Given the description of an element on the screen output the (x, y) to click on. 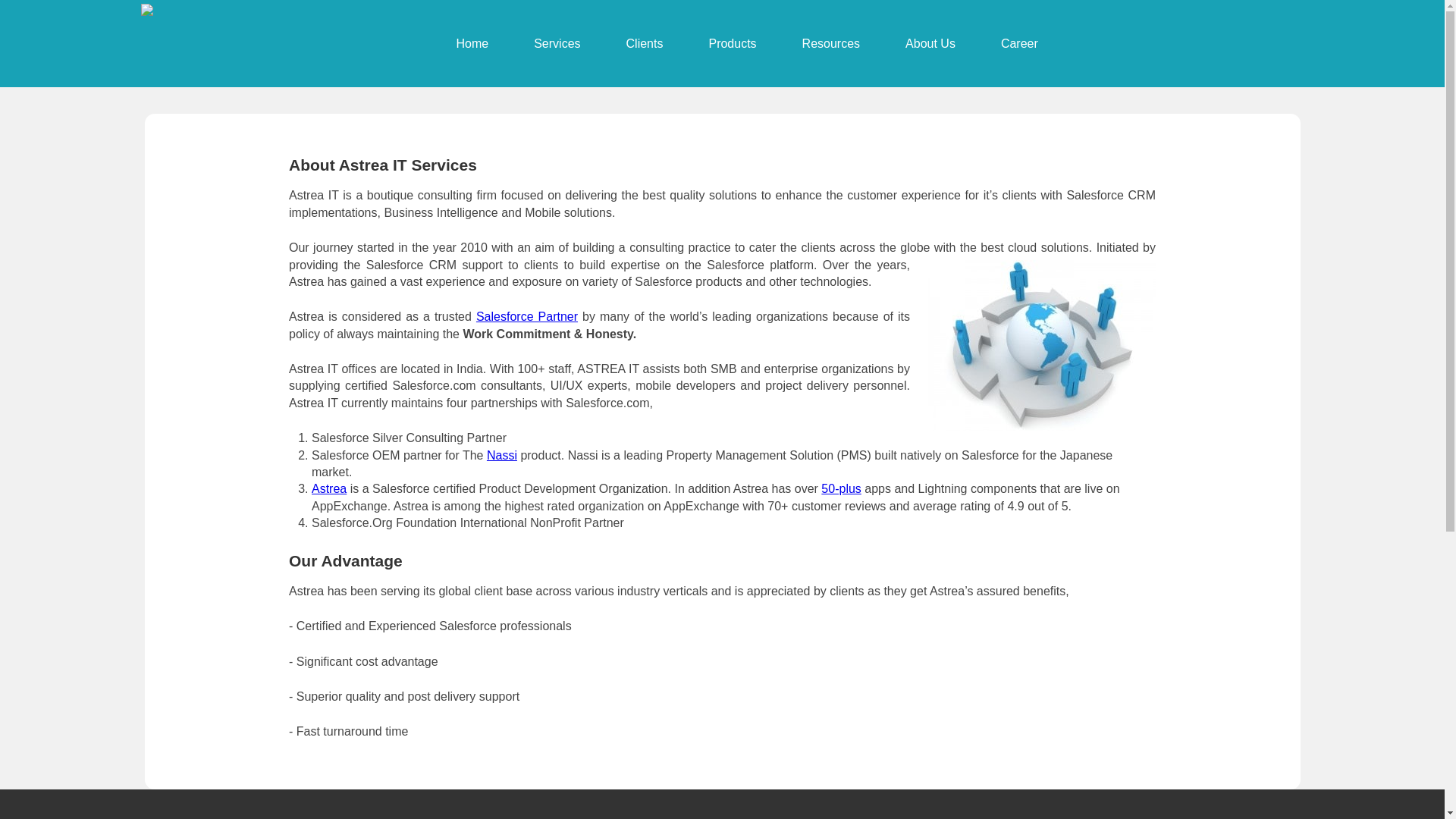
Services (556, 43)
Products (731, 43)
Home (472, 43)
Clients (644, 43)
